Given the description of an element on the screen output the (x, y) to click on. 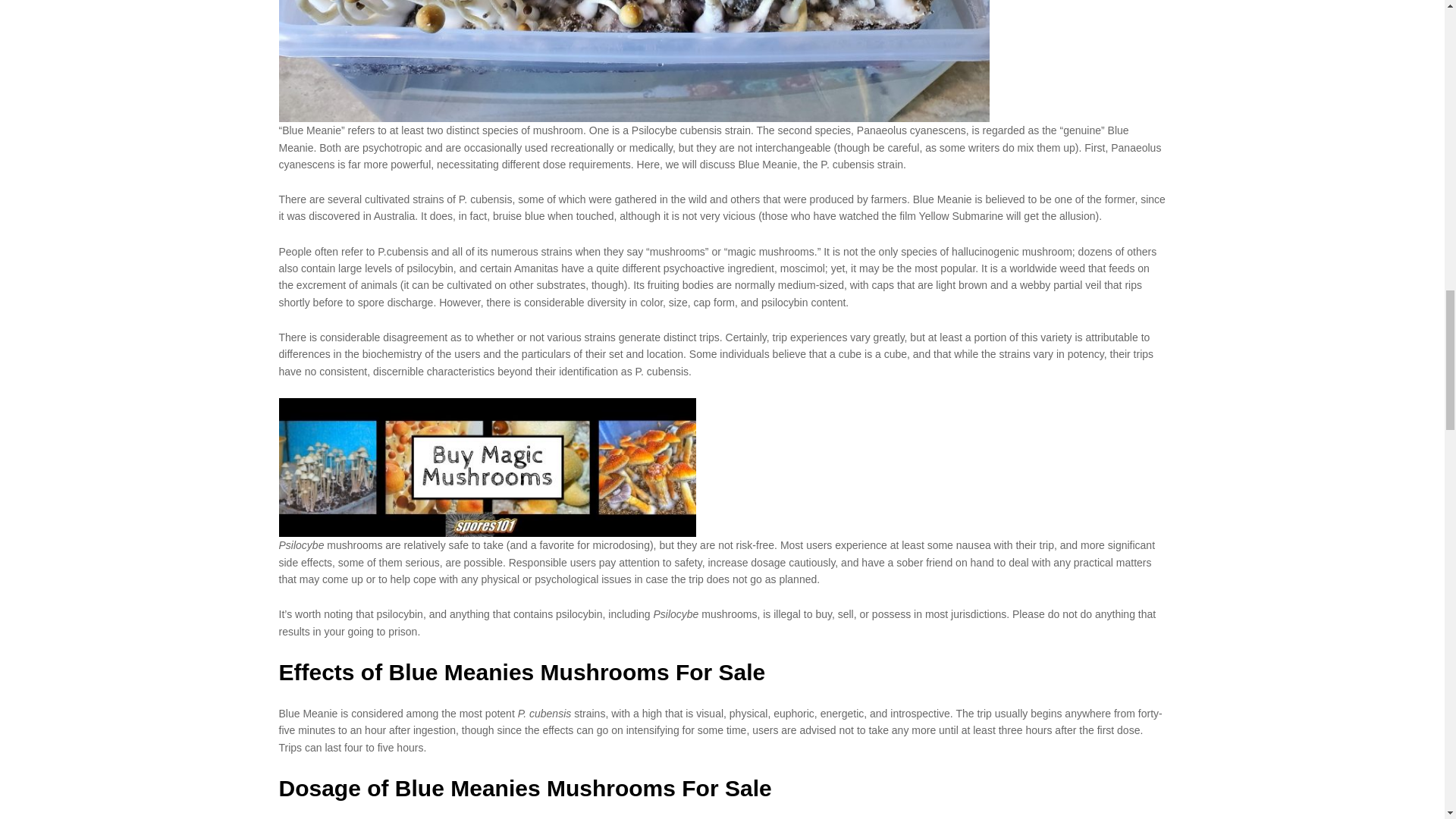
Spores101 Header (487, 467)
